Given the description of an element on the screen output the (x, y) to click on. 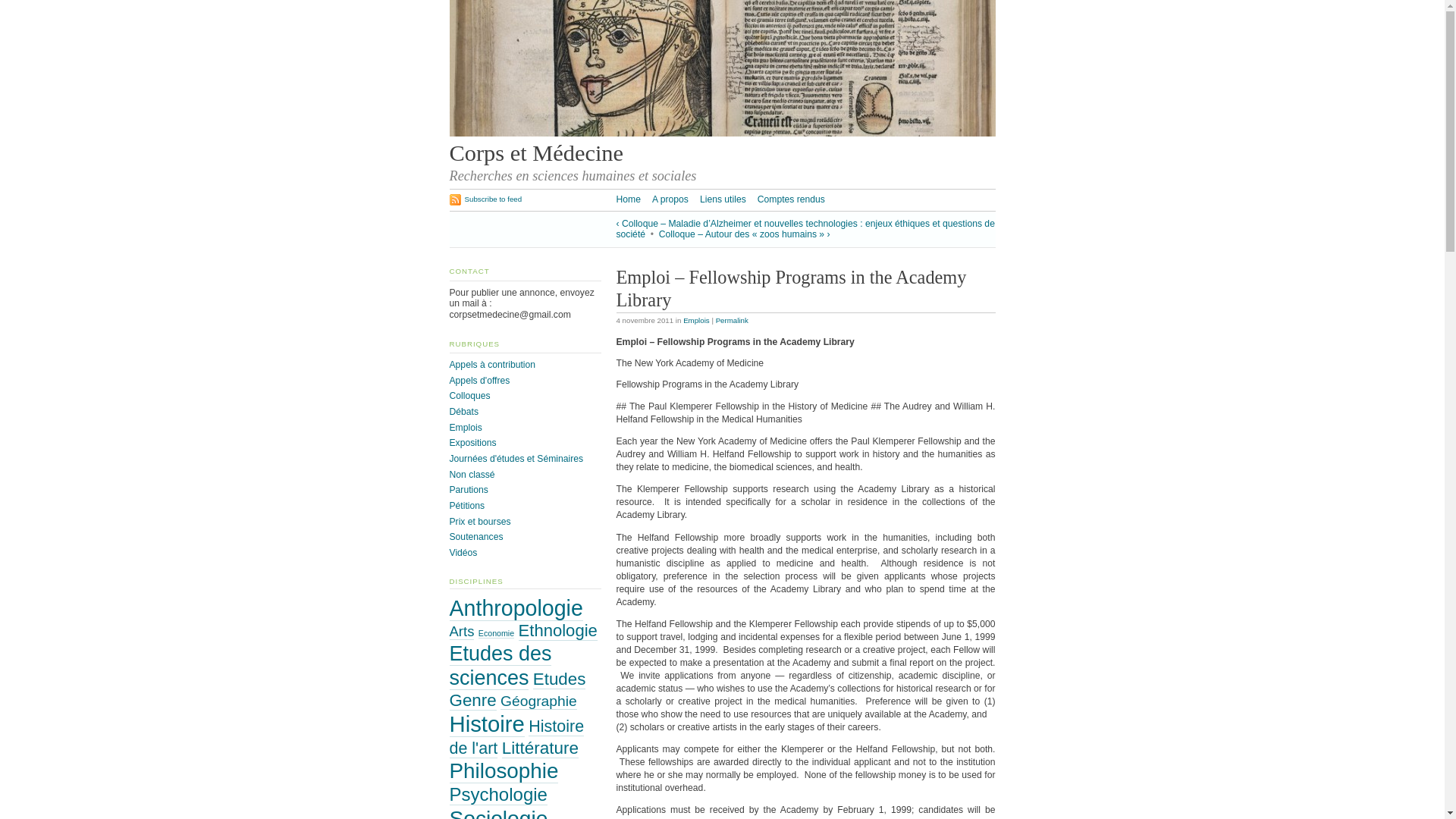
Arts (461, 631)
Soutenances (475, 536)
Expositions (472, 442)
Psychologie (497, 794)
Sociologie (497, 812)
Etudes Genre (516, 689)
Comptes rendus (791, 199)
Parutions (467, 489)
Histoire de l'art (515, 737)
Anthropologie (515, 608)
Subscribe to feed (484, 199)
Permalink (732, 320)
Return to main page (721, 132)
Home (627, 199)
Etudes des sciences (499, 666)
